Given the description of an element on the screen output the (x, y) to click on. 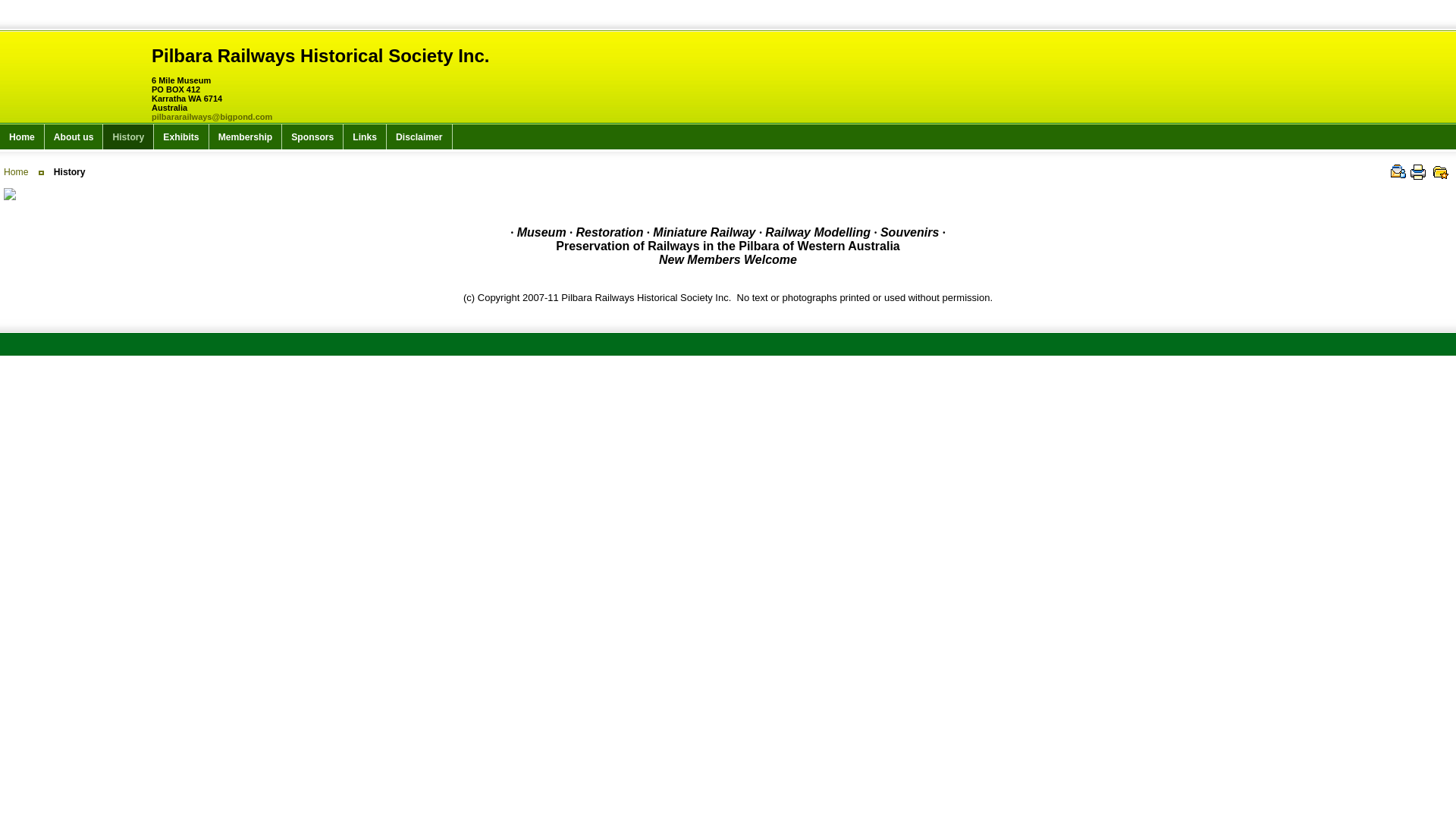
Home Element type: text (15, 171)
Membership Element type: text (245, 136)
About us Element type: text (73, 136)
History Element type: text (128, 136)
Print this page Element type: hover (1417, 171)
Add to Favorite Element type: hover (1440, 171)
Exhibits Element type: text (180, 136)
Links Element type: text (364, 136)
Home Element type: text (22, 136)
pilbararailways@bigpond.com Element type: text (211, 116)
Disclaimer Element type: text (419, 136)
Email a Page to a Friend Element type: hover (1398, 171)
Sponsors Element type: text (312, 136)
